Given the description of an element on the screen output the (x, y) to click on. 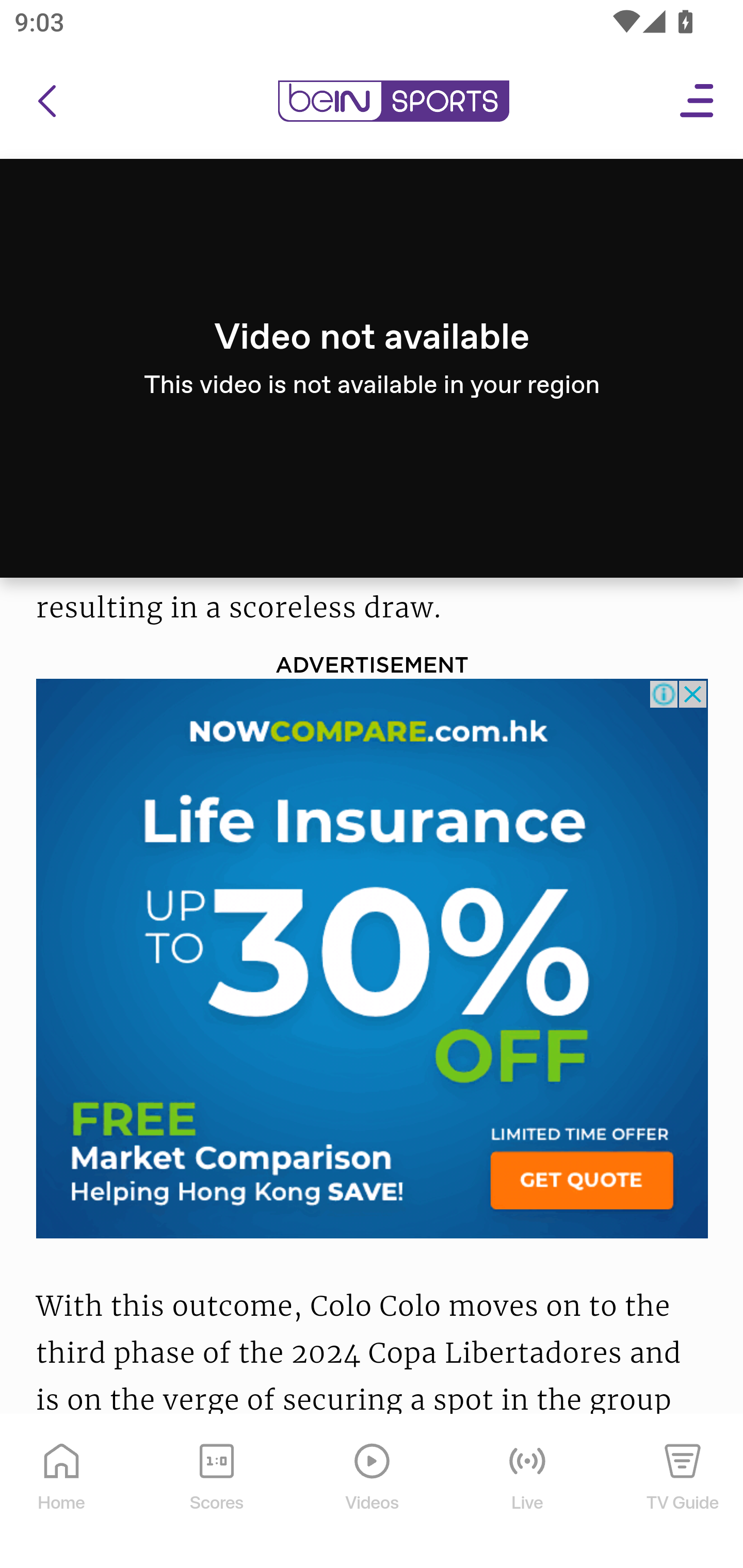
en-us?platform=mobile_android bein logo (392, 101)
icon back (46, 101)
Open Menu Icon (697, 101)
Home Home Icon Home (61, 1493)
Scores Scores Icon Scores (216, 1493)
Videos Videos Icon Videos (372, 1493)
TV Guide TV Guide Icon TV Guide (682, 1493)
